Given the description of an element on the screen output the (x, y) to click on. 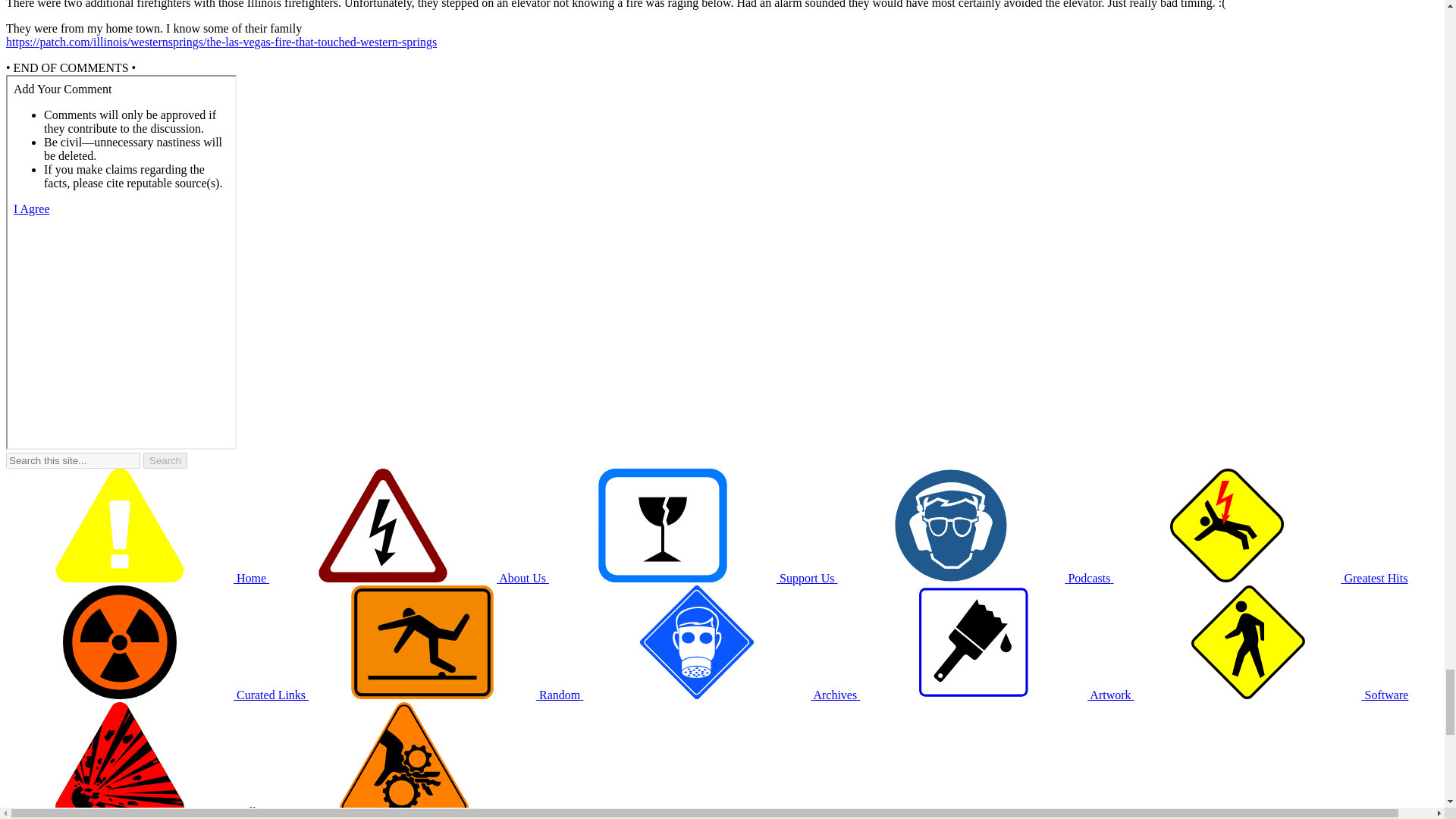
Search (164, 460)
